Given the description of an element on the screen output the (x, y) to click on. 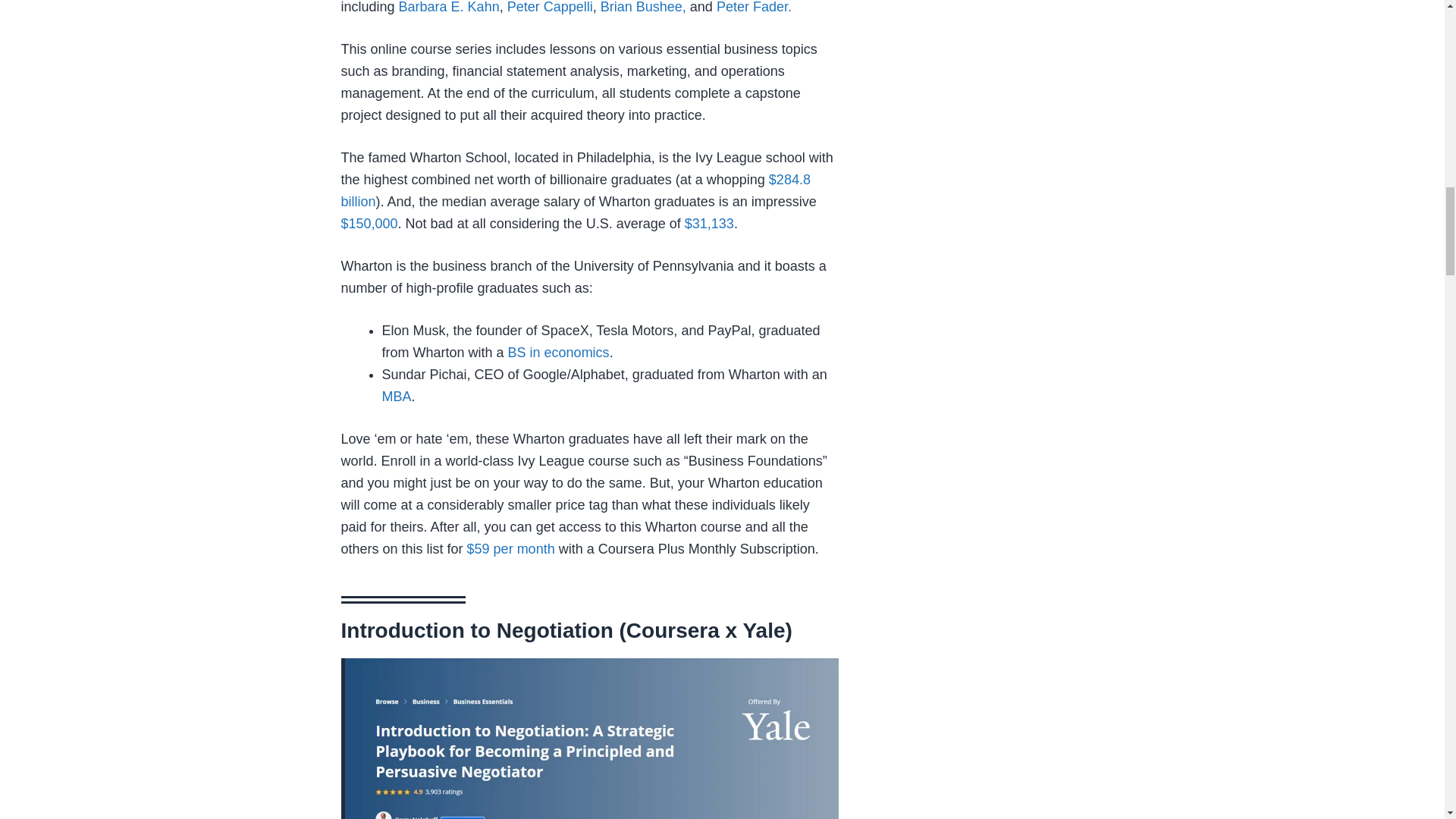
Coursera Plus (510, 548)
